Given the description of an element on the screen output the (x, y) to click on. 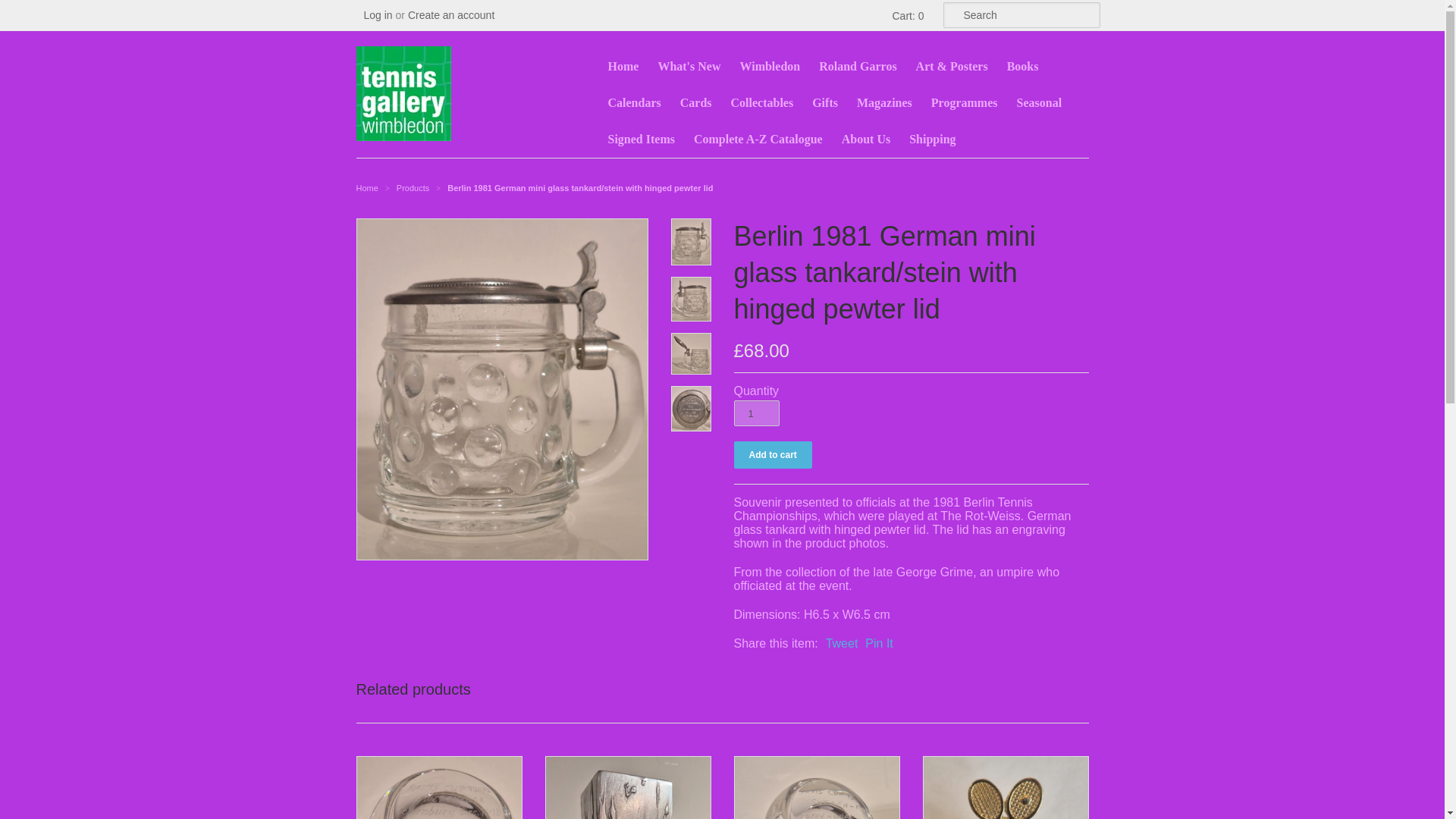
Create an account (451, 15)
Tennis Gallery Wimbledon (367, 187)
Cart: 0 (904, 15)
Add to cart (772, 454)
Shopping Cart (904, 15)
All Products (413, 187)
1 (755, 412)
Log in (378, 15)
